Given the description of an element on the screen output the (x, y) to click on. 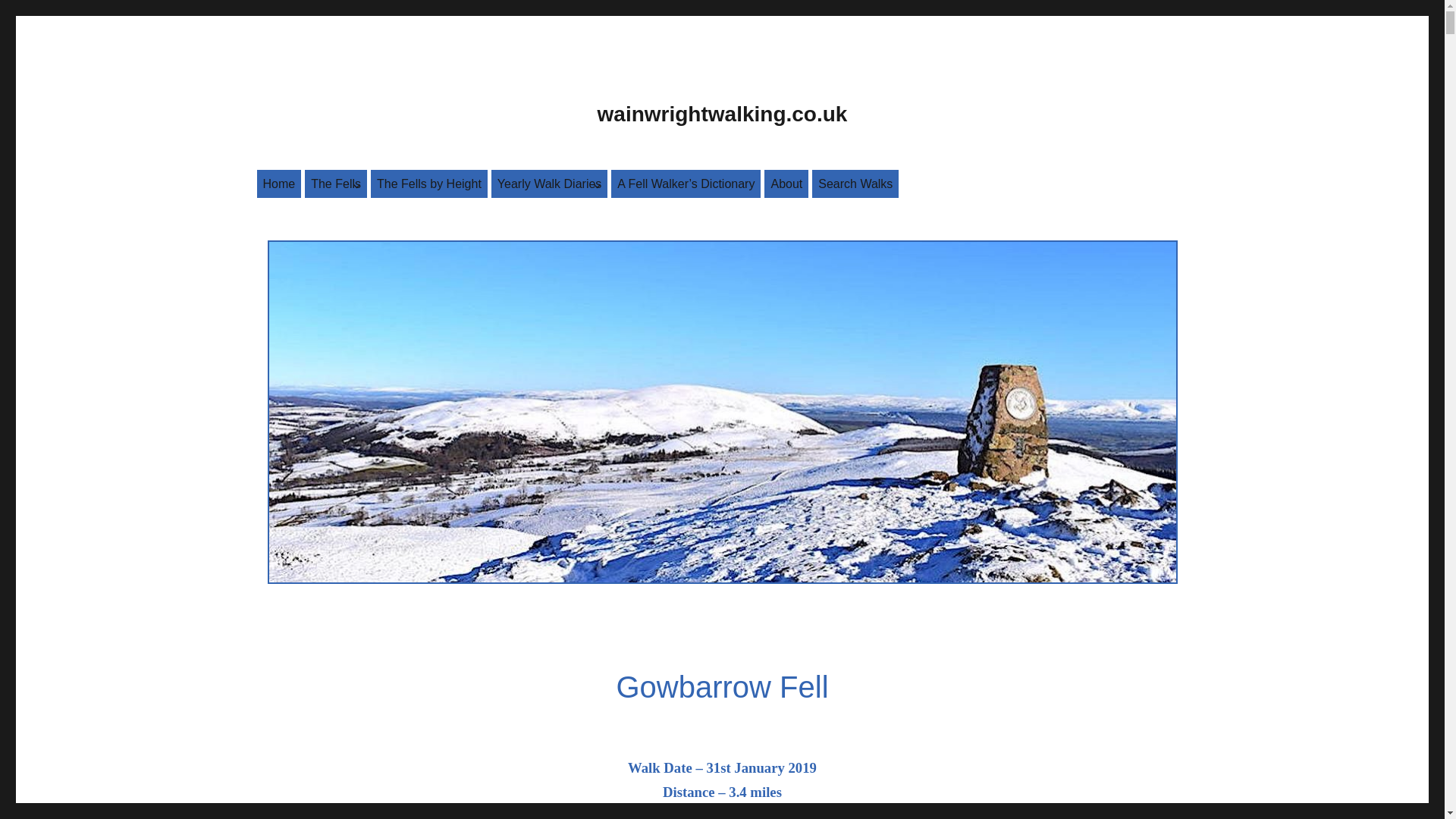
The Fells (335, 183)
wainwrightwalking.co.uk (721, 114)
Yearly Walk Diaries (550, 183)
The Fells by Height (429, 183)
Search Walks (855, 183)
Home (278, 183)
About (786, 183)
